Given the description of an element on the screen output the (x, y) to click on. 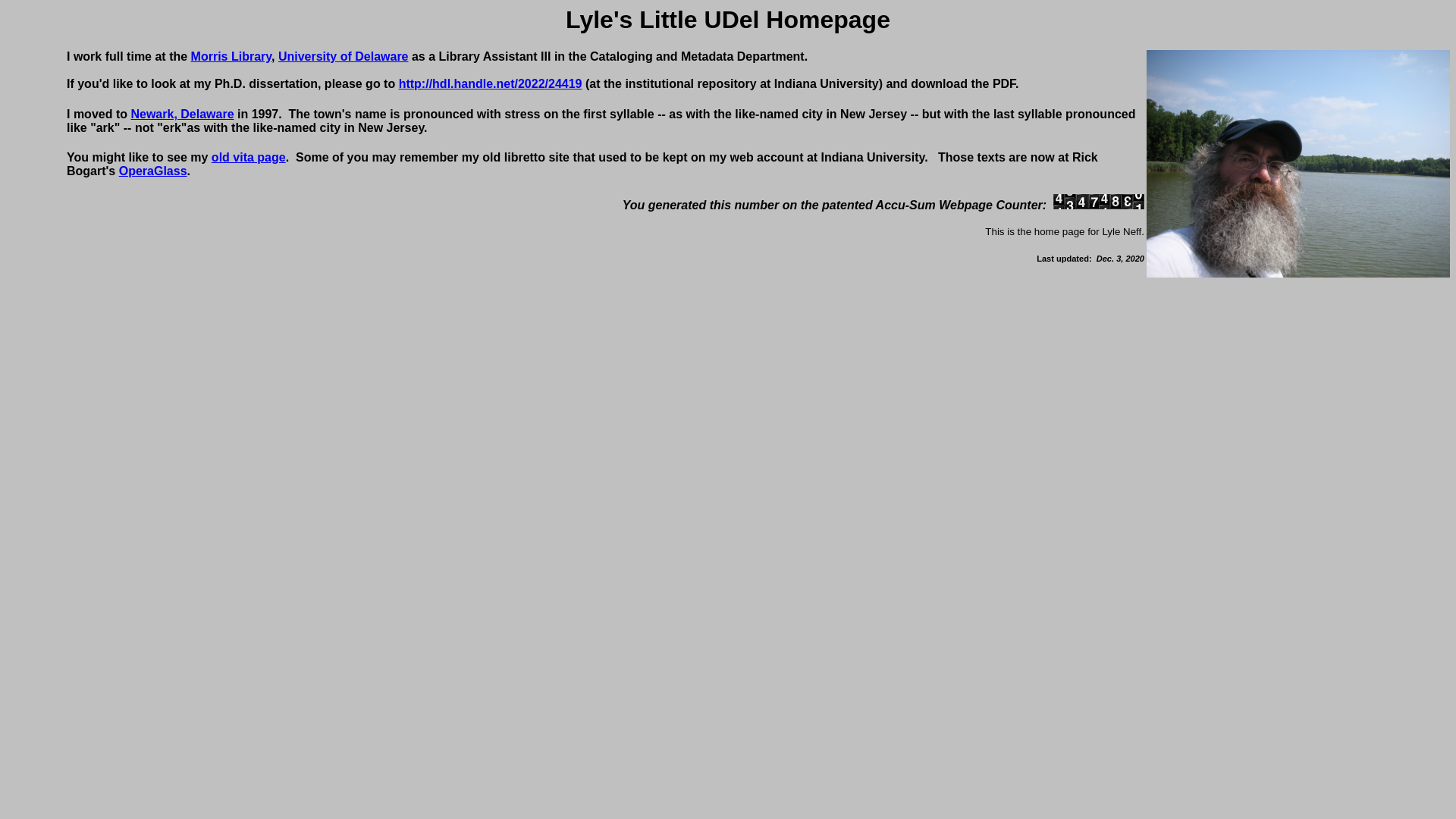
Newark, Delaware (181, 113)
OperaGlass (153, 170)
University of Delaware (343, 56)
old vita page (248, 156)
Morris Library (230, 56)
